Given the description of an element on the screen output the (x, y) to click on. 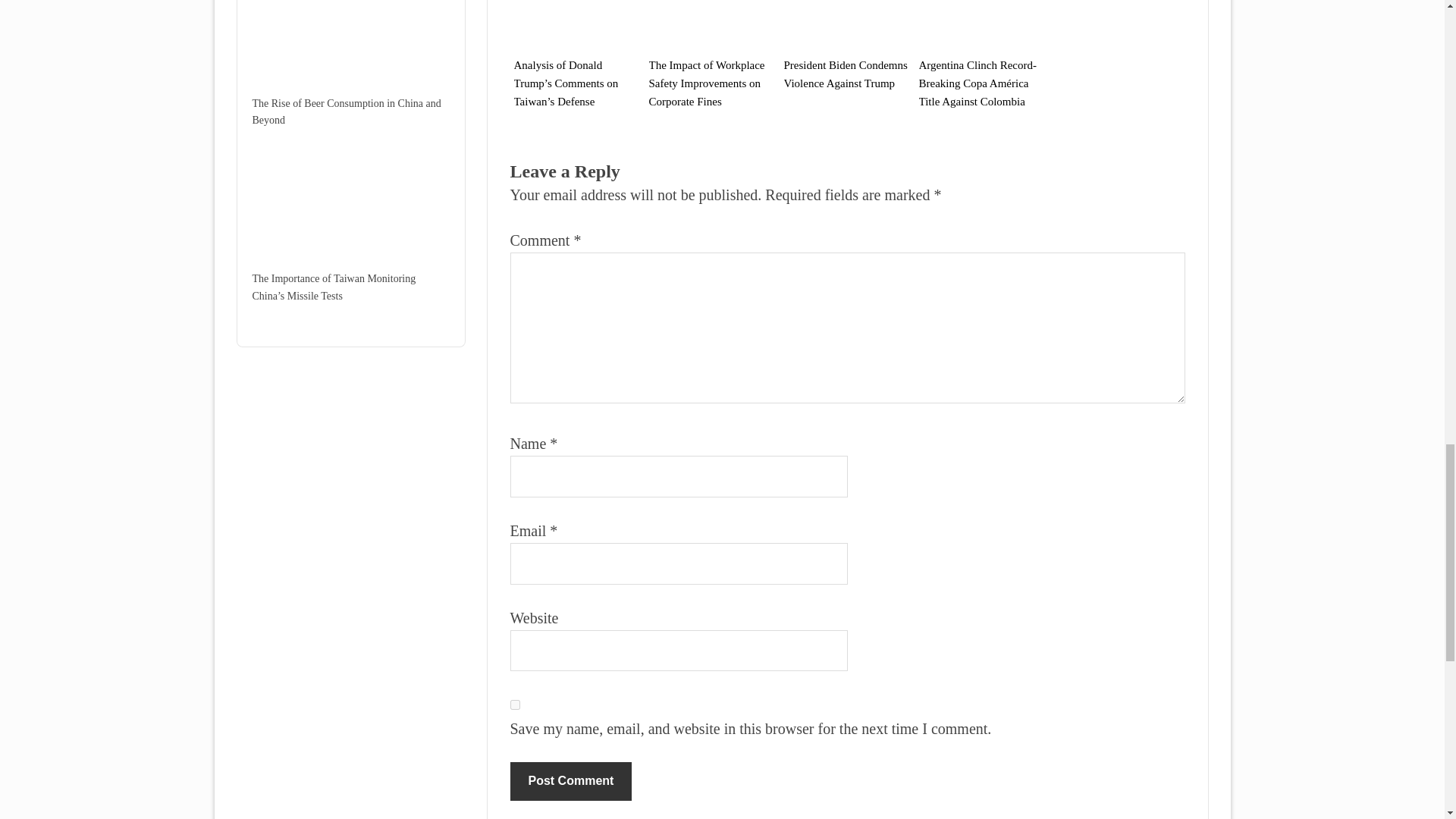
yes (514, 705)
Post Comment (570, 781)
